Given the description of an element on the screen output the (x, y) to click on. 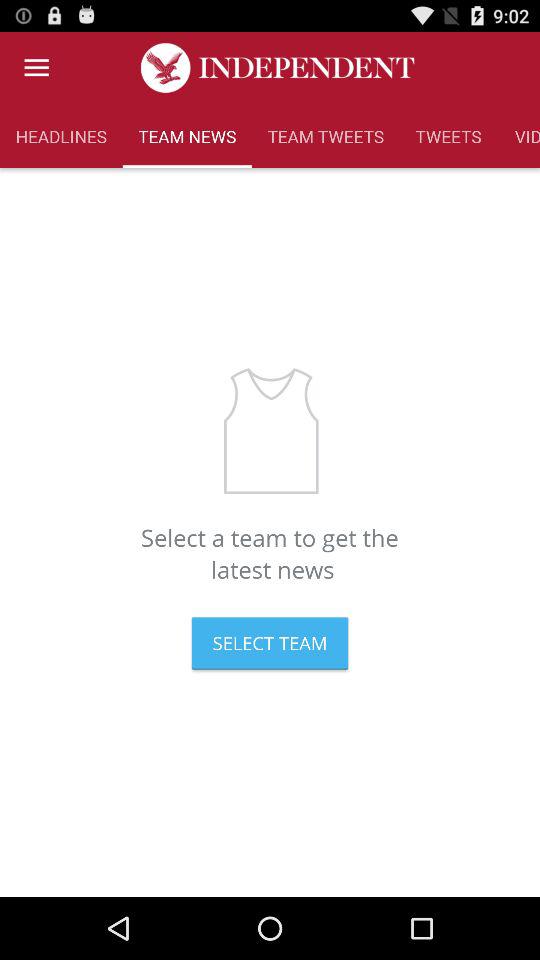
click on select team (269, 642)
